Given the description of an element on the screen output the (x, y) to click on. 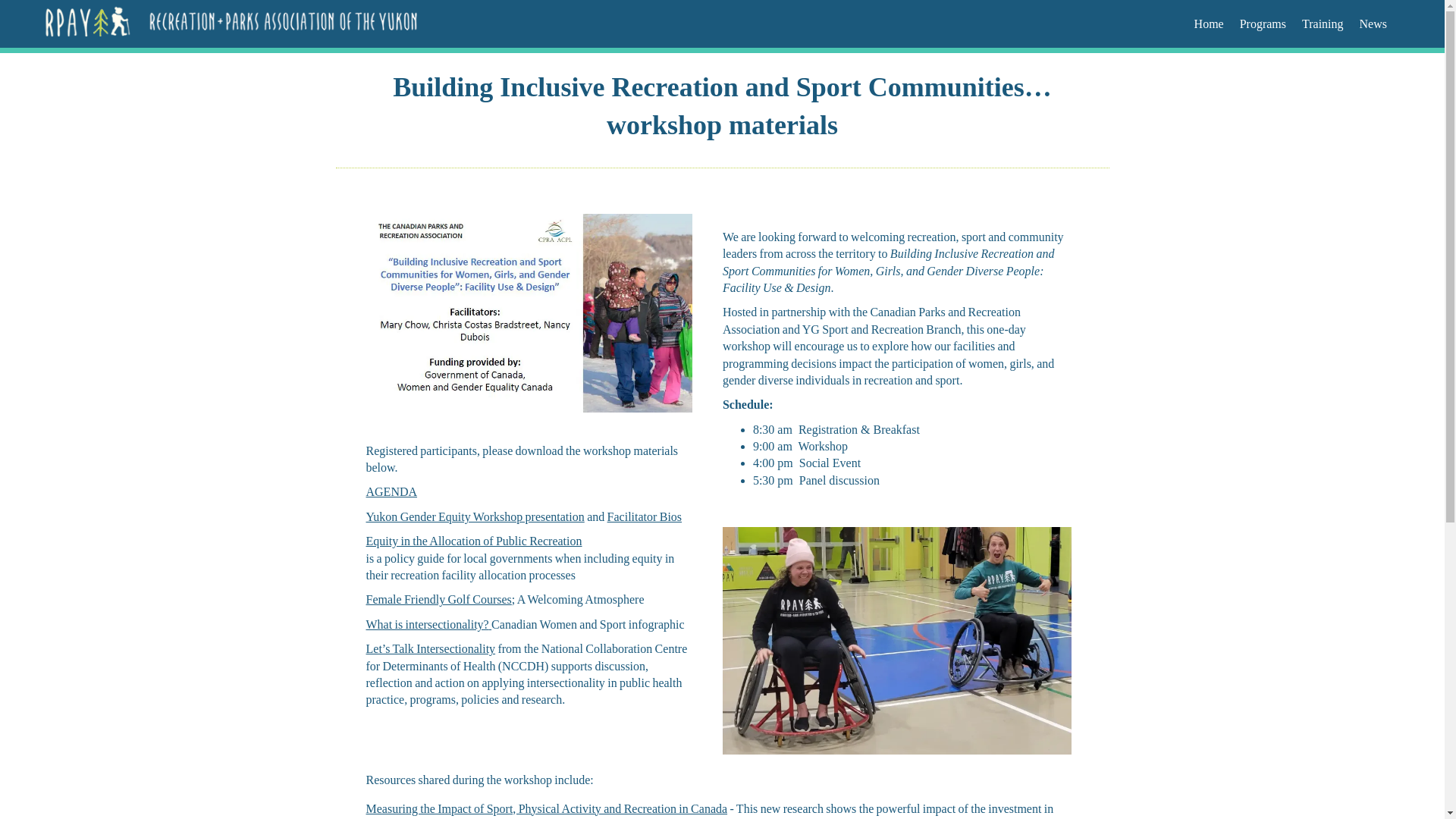
AGENDA (390, 491)
Facilitator Bios (644, 516)
grntreelogo1 (231, 24)
Training (1322, 23)
News (1373, 23)
Programs (1262, 23)
Equity in the Allocation of Public Recreation (472, 540)
Home (1208, 23)
Screenshot 2024-02-15 210504 (528, 312)
